Given the description of an element on the screen output the (x, y) to click on. 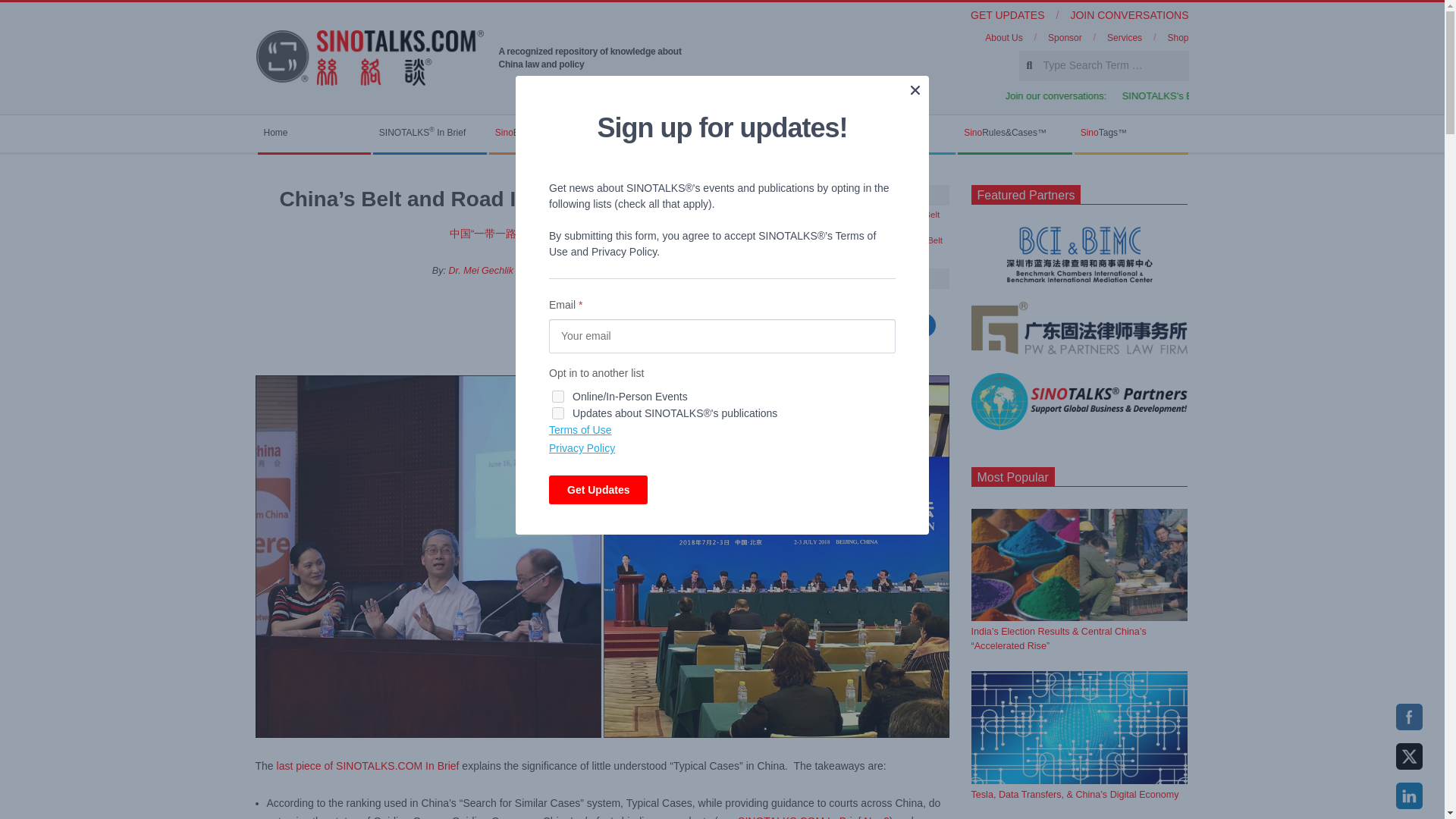
Dr. Mei Gechlik (480, 270)
Shop (1177, 37)
Facebook (1409, 716)
LinkedIn (1409, 795)
About Us (1003, 37)
GET UPDATES (1008, 15)
SINOTALKS.COM In Brief No. 2 (813, 816)
Join our conversations: (1221, 95)
Services (1123, 37)
JOIN CONVERSATIONS (1129, 15)
Home (313, 133)
Subscribe on LinkedIn (871, 324)
last piece of SINOTALKS.COM In Brief (368, 766)
Twitter (1409, 755)
